Given the description of an element on the screen output the (x, y) to click on. 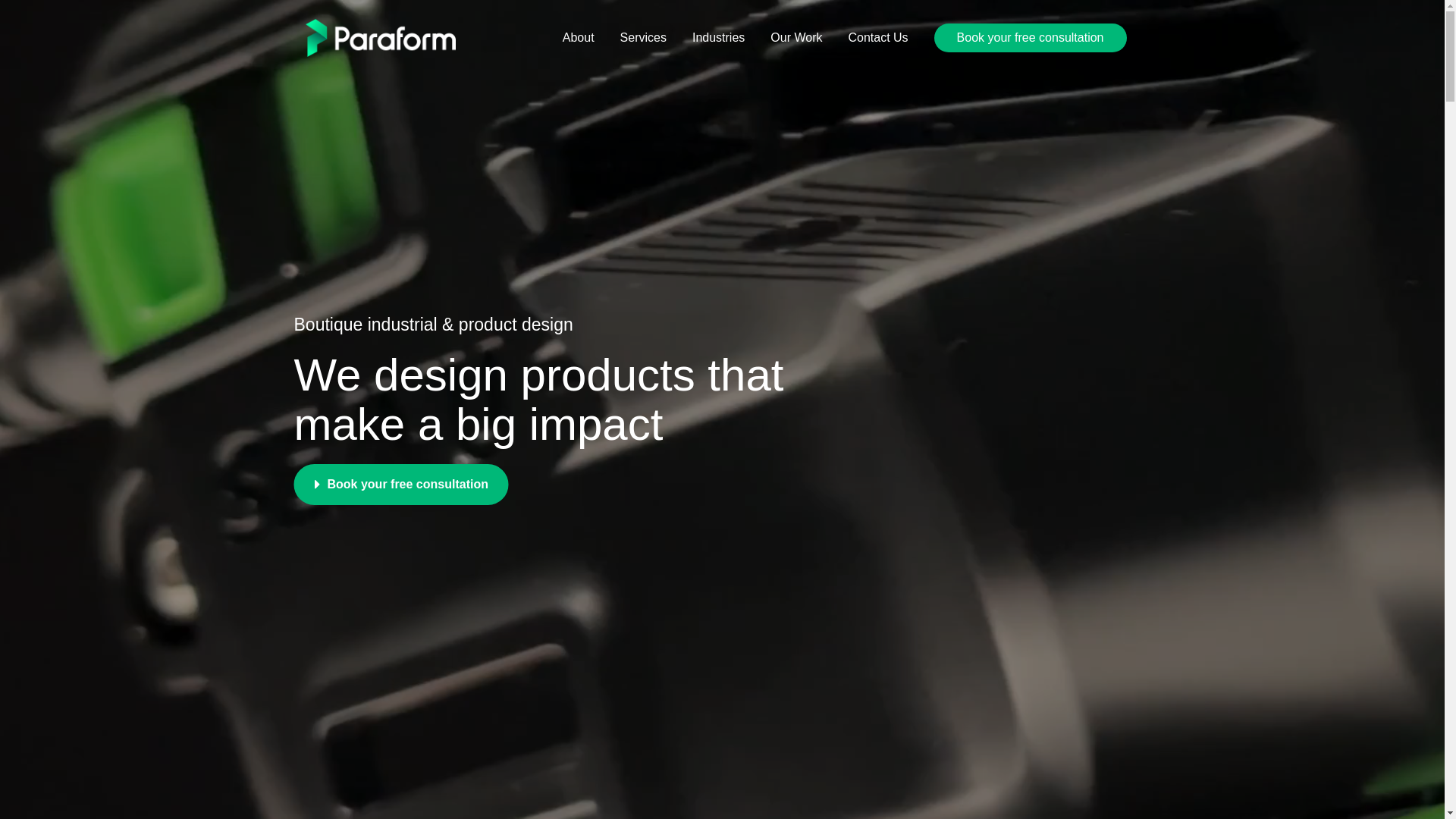
Book your free consultation Element type: text (401, 484)
Industries Element type: text (718, 37)
Contact Us Element type: text (877, 37)
Services Element type: text (643, 37)
About Element type: text (578, 37)
Our Work Element type: text (795, 37)
Book your free consultation Element type: text (1030, 37)
